Given the description of an element on the screen output the (x, y) to click on. 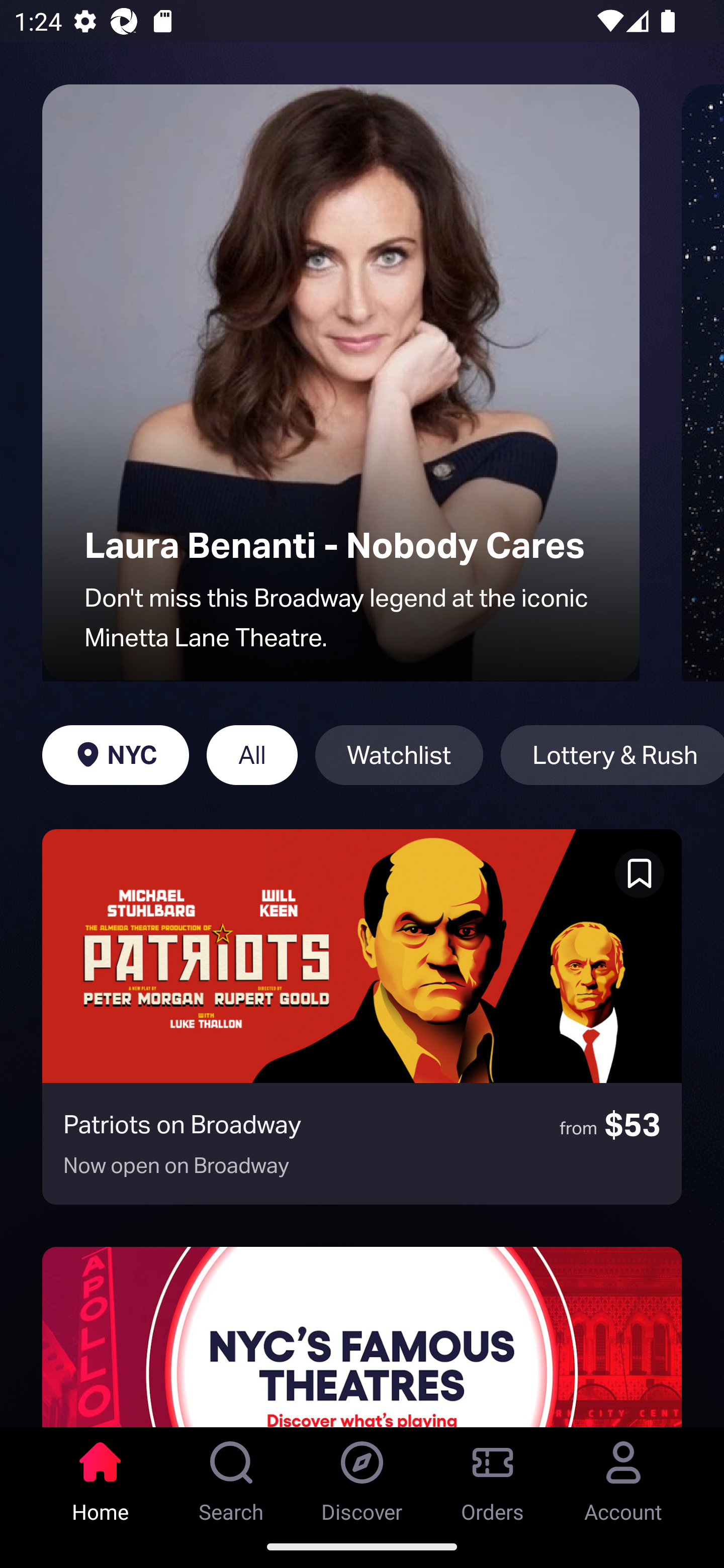
NYC (114, 754)
All (251, 754)
Watchlist (398, 754)
Lottery & Rush (612, 754)
Patriots on Broadway from $53 Now open on Broadway (361, 1016)
Search (230, 1475)
Discover (361, 1475)
Orders (492, 1475)
Account (623, 1475)
